Given the description of an element on the screen output the (x, y) to click on. 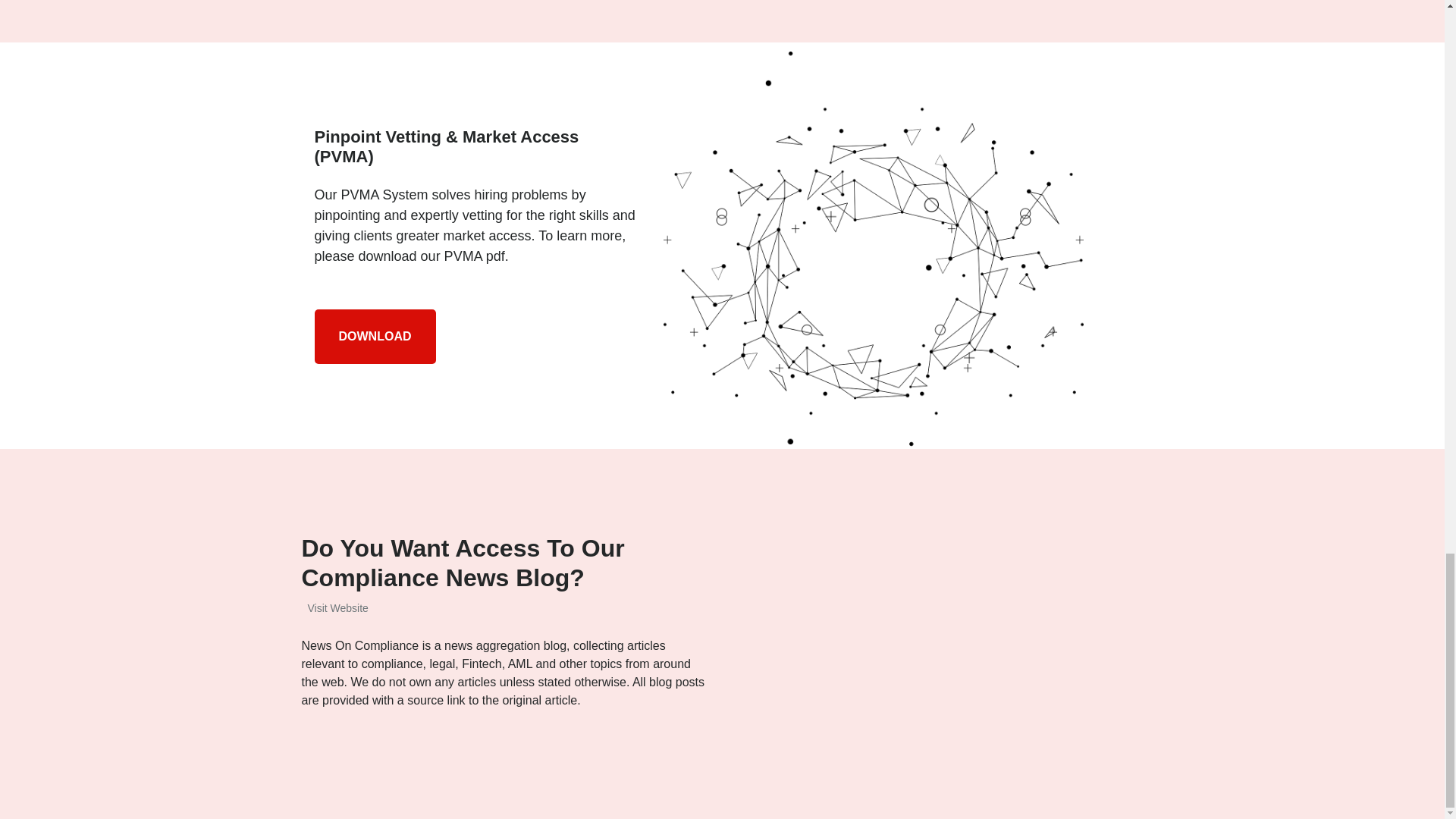
DOWNLOAD (374, 335)
Visit Website (334, 607)
DOWNLOAD (374, 336)
